Given the description of an element on the screen output the (x, y) to click on. 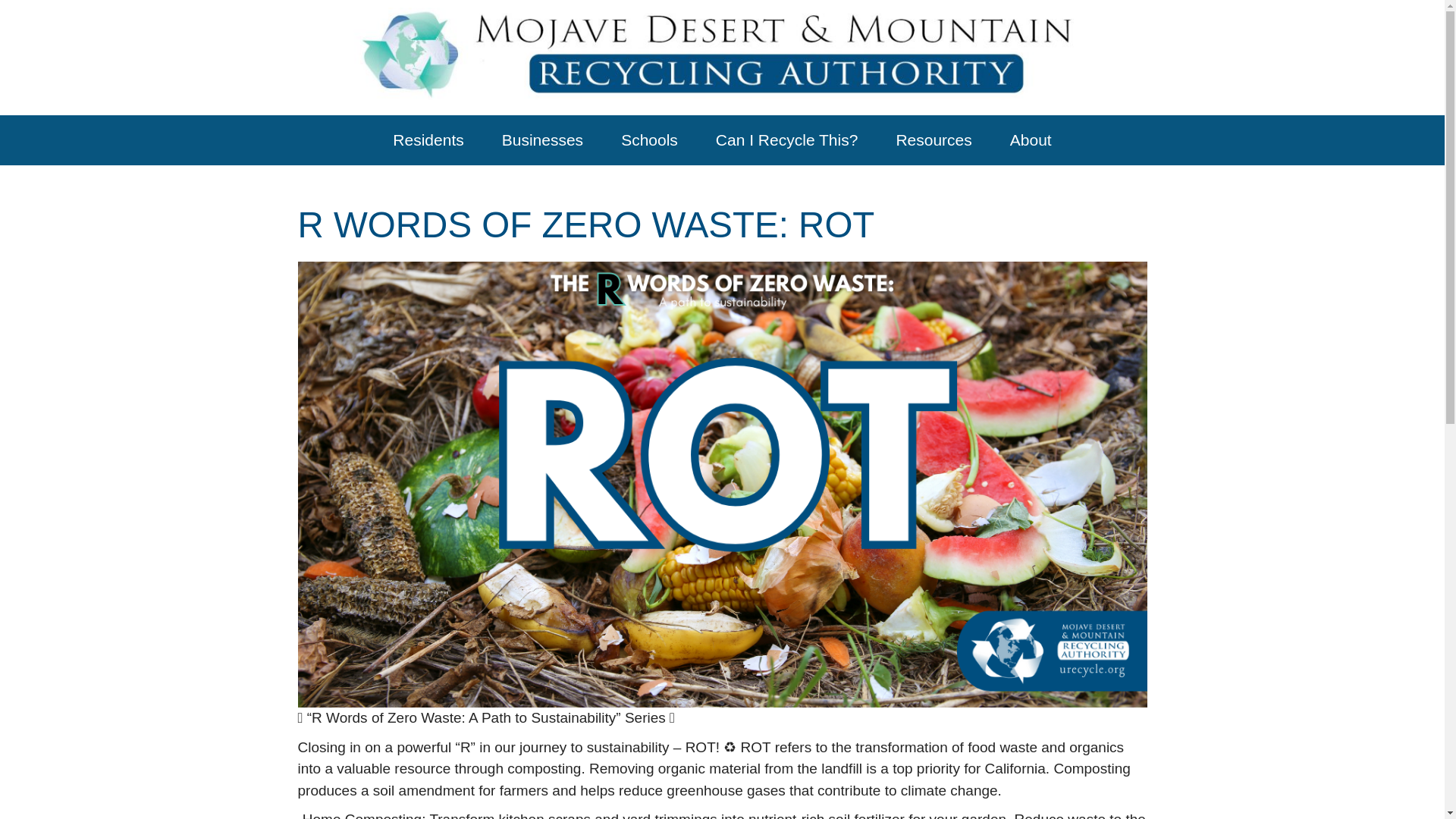
Can I Recycle This? (786, 140)
About (1030, 140)
Resources (933, 140)
Businesses (542, 140)
Residents (428, 140)
Schools (649, 140)
